Given the description of an element on the screen output the (x, y) to click on. 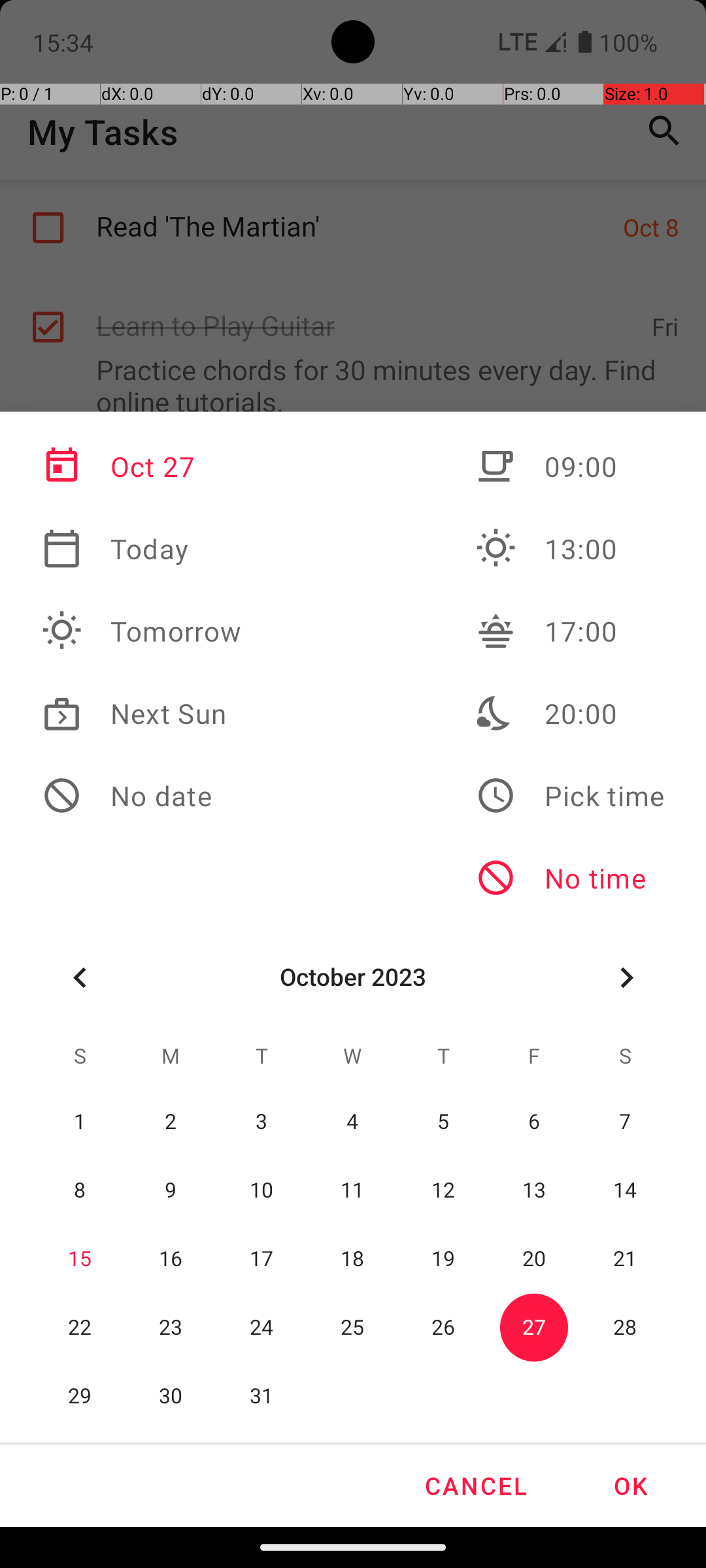
Oct 27 Element type: android.widget.CompoundButton (141, 466)
